Given the description of an element on the screen output the (x, y) to click on. 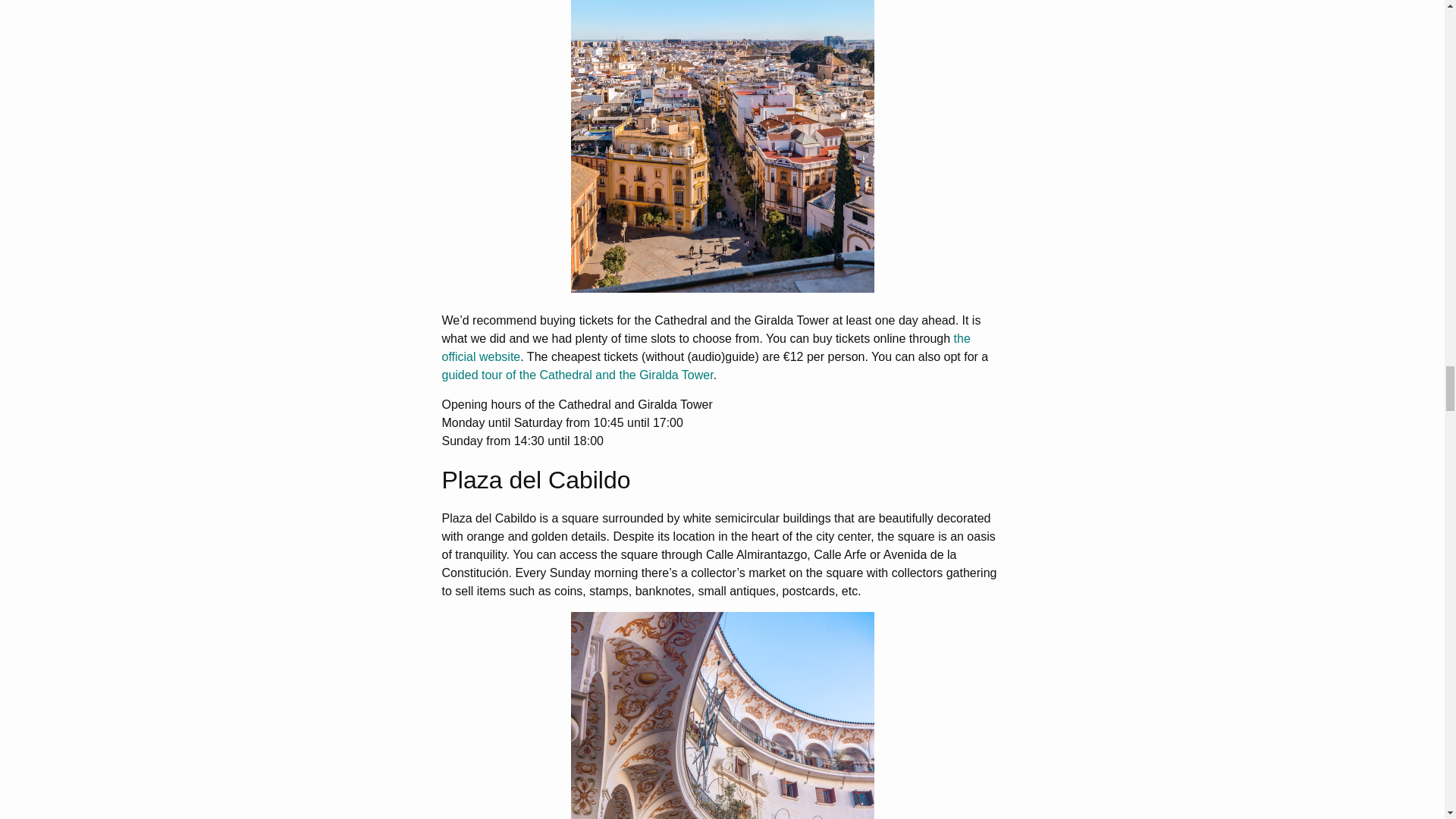
guided tour of the Cathedral and the Giralda Tower (577, 374)
the official website (705, 347)
